Given the description of an element on the screen output the (x, y) to click on. 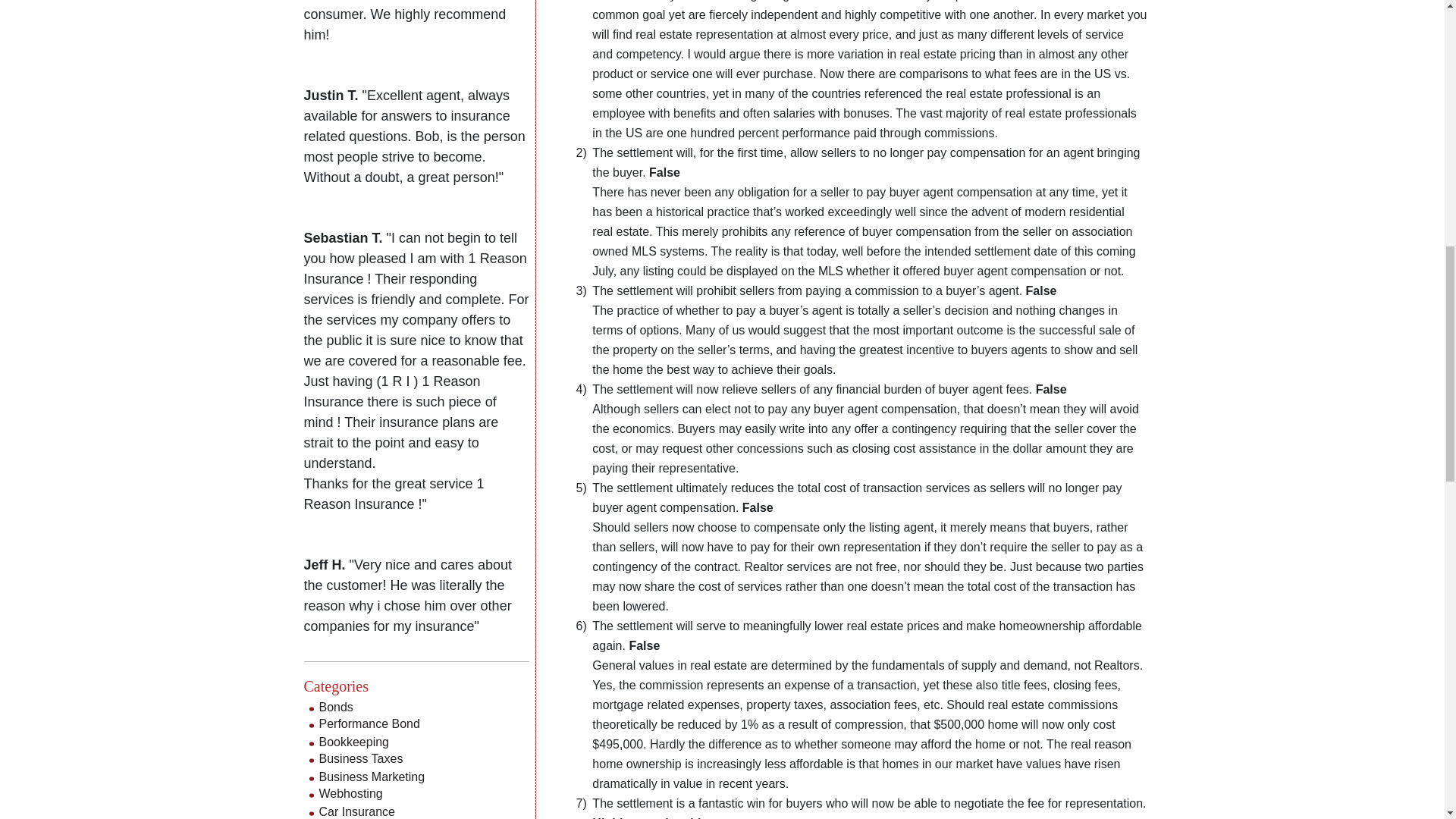
Business Taxes (360, 758)
Car Insurance (356, 811)
Bonds (335, 707)
Bookkeeping (353, 741)
Webhosting (349, 793)
Performance Bond (368, 723)
Business Marketing (371, 776)
